Given the description of an element on the screen output the (x, y) to click on. 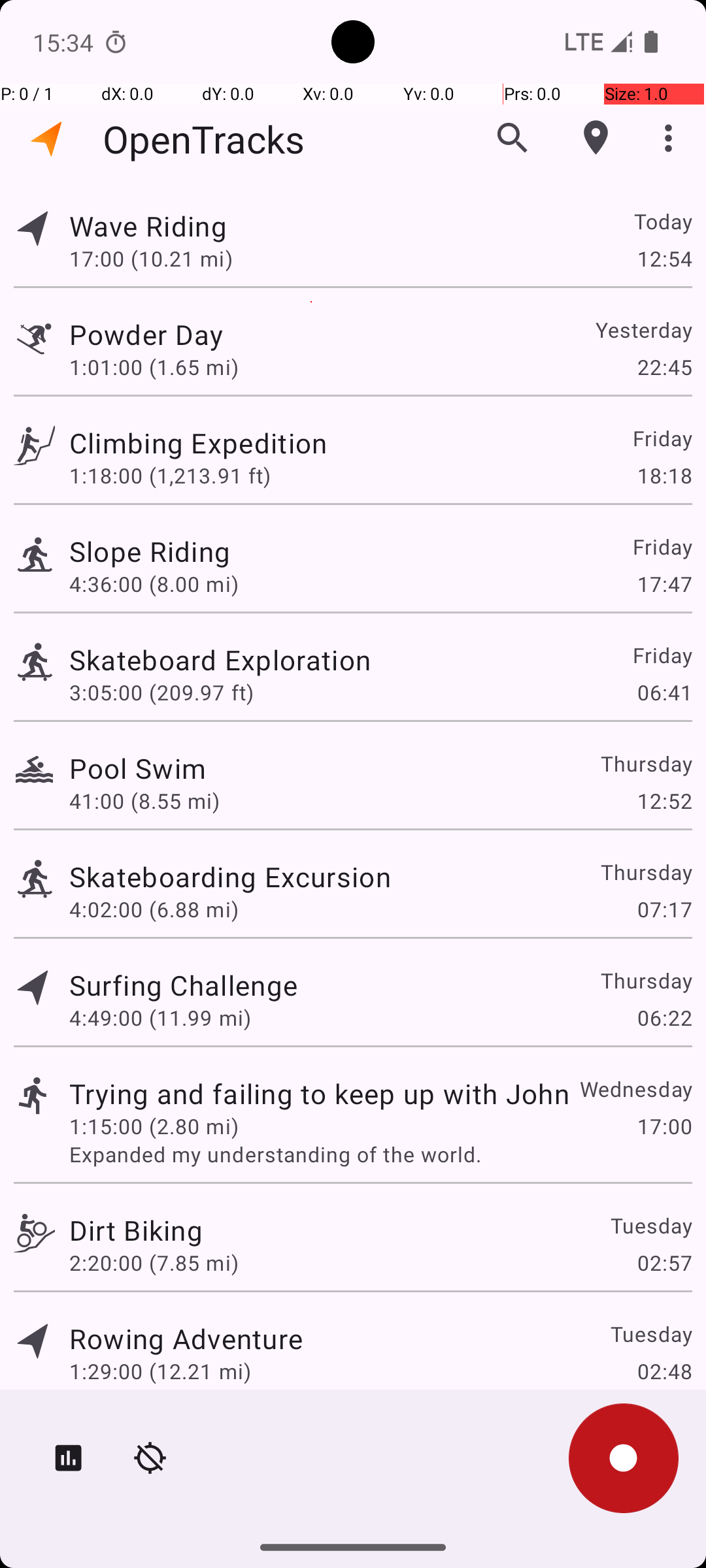
Wave Riding Element type: android.widget.TextView (147, 225)
17:00 (10.21 mi) Element type: android.widget.TextView (150, 258)
12:54 Element type: android.widget.TextView (664, 258)
Powder Day Element type: android.widget.TextView (145, 333)
1:01:00 (1.65 mi) Element type: android.widget.TextView (153, 366)
22:45 Element type: android.widget.TextView (664, 366)
Climbing Expedition Element type: android.widget.TextView (197, 442)
1:18:00 (1,213.91 ft) Element type: android.widget.TextView (169, 475)
18:18 Element type: android.widget.TextView (664, 475)
Slope Riding Element type: android.widget.TextView (149, 550)
4:36:00 (8.00 mi) Element type: android.widget.TextView (153, 583)
17:47 Element type: android.widget.TextView (664, 583)
Skateboard Exploration Element type: android.widget.TextView (219, 659)
3:05:00 (209.97 ft) Element type: android.widget.TextView (161, 692)
06:41 Element type: android.widget.TextView (664, 692)
Pool Swim Element type: android.widget.TextView (137, 767)
41:00 (8.55 mi) Element type: android.widget.TextView (144, 800)
12:52 Element type: android.widget.TextView (664, 800)
Skateboarding Excursion Element type: android.widget.TextView (229, 876)
4:02:00 (6.88 mi) Element type: android.widget.TextView (153, 909)
07:17 Element type: android.widget.TextView (664, 909)
Surfing Challenge Element type: android.widget.TextView (183, 984)
4:49:00 (11.99 mi) Element type: android.widget.TextView (159, 1017)
06:22 Element type: android.widget.TextView (664, 1017)
Trying and failing to keep up with John Element type: android.widget.TextView (319, 1092)
1:15:00 (2.80 mi) Element type: android.widget.TextView (153, 1125)
Expanded my understanding of the world. Element type: android.widget.TextView (380, 1154)
Dirt Biking Element type: android.widget.TextView (135, 1229)
2:20:00 (7.85 mi) Element type: android.widget.TextView (153, 1262)
02:57 Element type: android.widget.TextView (664, 1262)
Rowing Adventure Element type: android.widget.TextView (185, 1337)
1:29:00 (12.21 mi) Element type: android.widget.TextView (159, 1370)
02:48 Element type: android.widget.TextView (664, 1370)
